Given the description of an element on the screen output the (x, y) to click on. 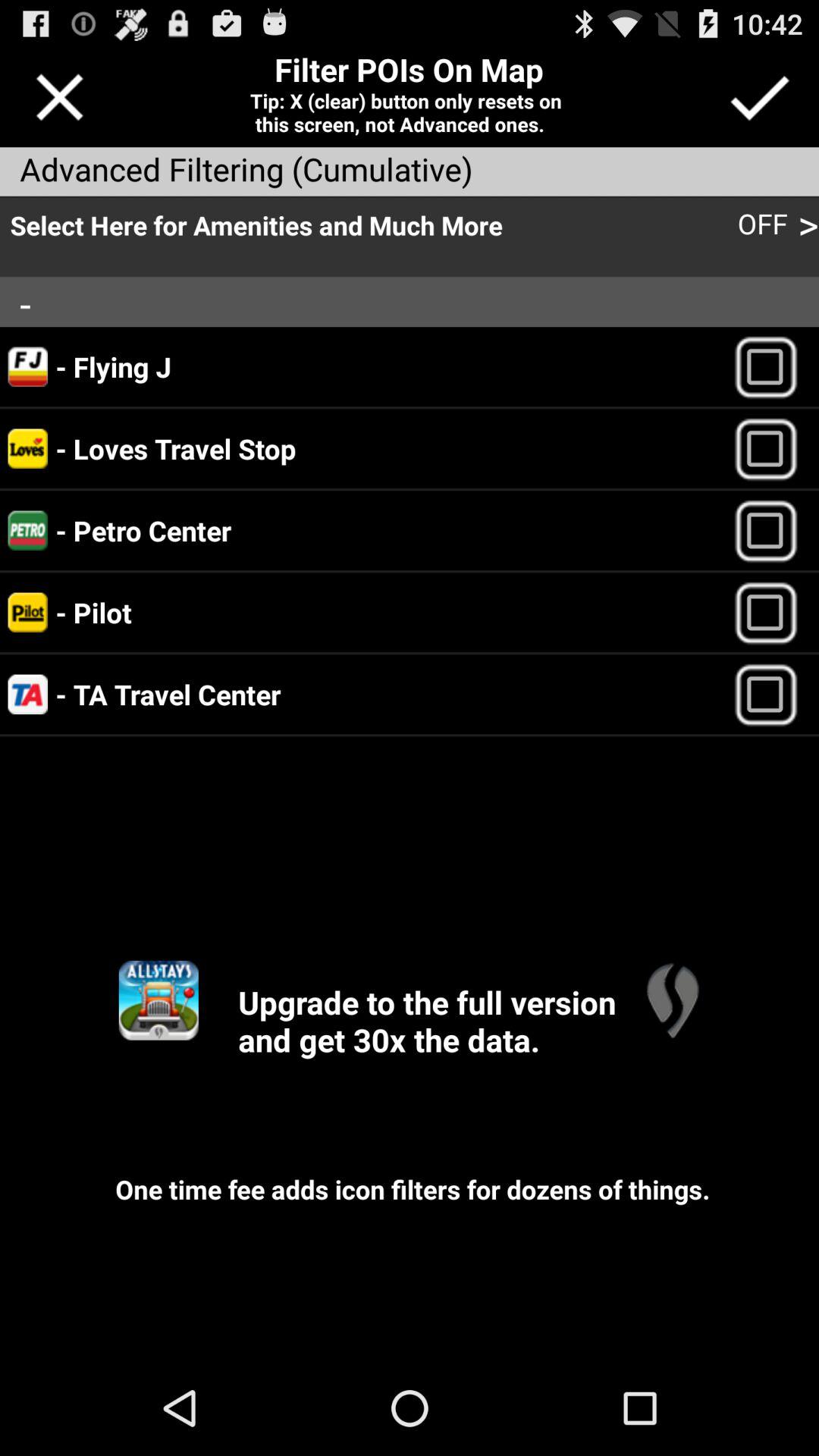
clear settings (59, 97)
